Given the description of an element on the screen output the (x, y) to click on. 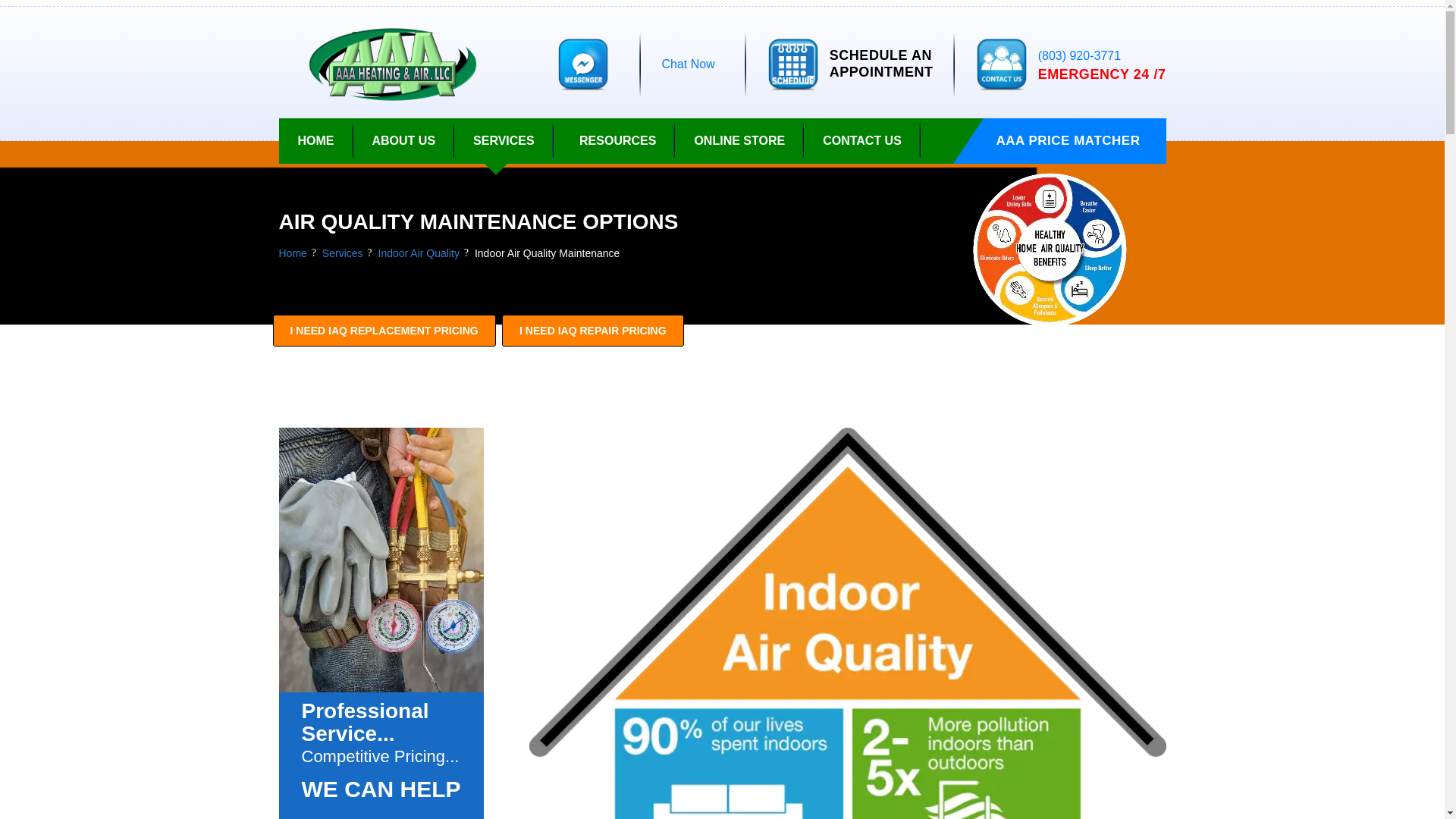
Contact on FB messenger (583, 63)
RESOURCES (617, 140)
Home (293, 253)
ABOUT US (403, 140)
Indoor Air Quality (419, 253)
Chat Now (881, 63)
Indoor Air Quality Maintenance (687, 63)
SERVICES (547, 253)
Services (503, 140)
HOME (341, 253)
I NEED IAQ REPAIR PRICING (315, 140)
AAA PRICE MATCHER (592, 330)
Schedule Online (1075, 140)
Call Now (793, 63)
